Given the description of an element on the screen output the (x, y) to click on. 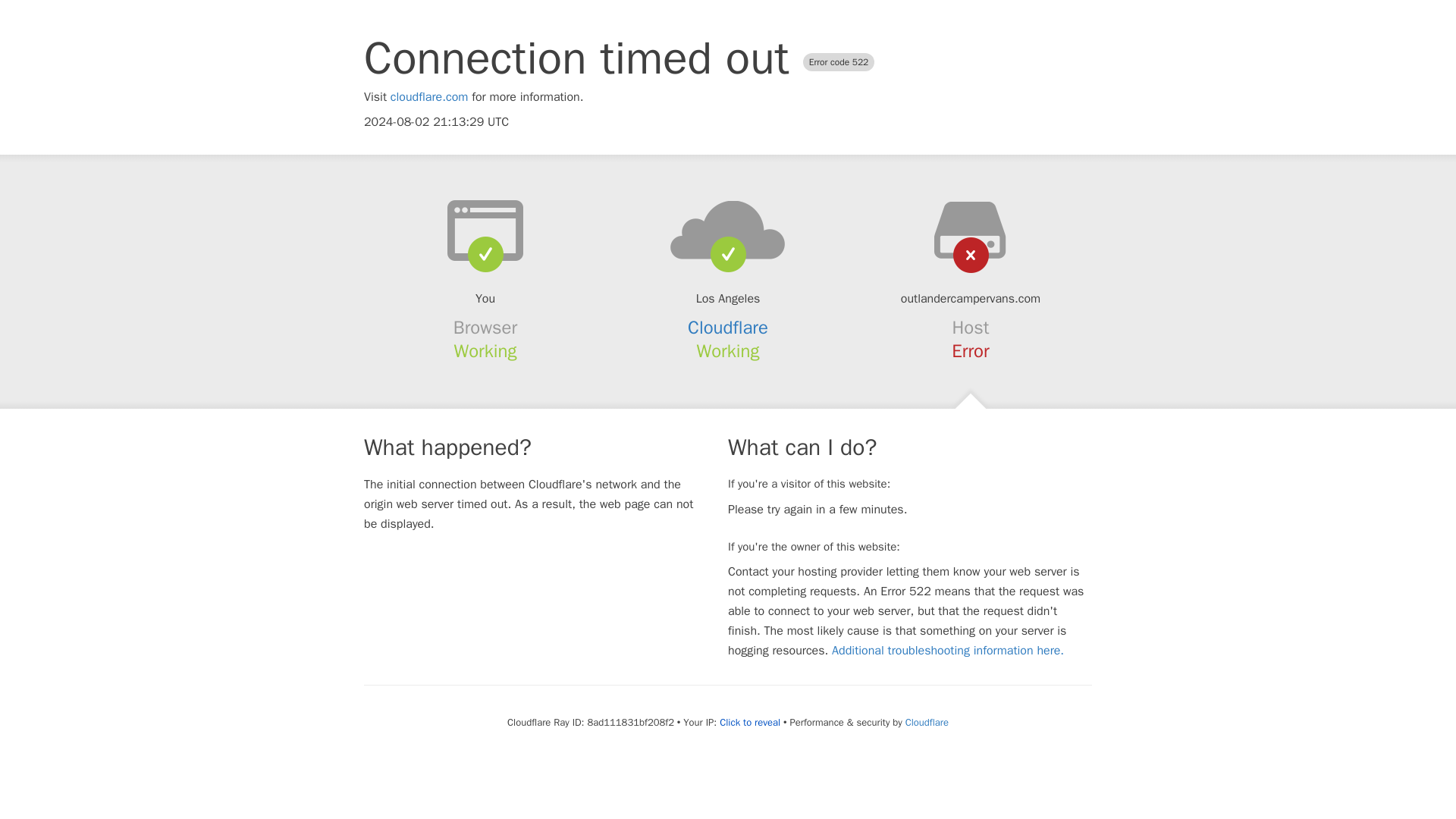
cloudflare.com (429, 96)
Additional troubleshooting information here. (947, 650)
Click to reveal (749, 722)
Cloudflare (927, 721)
Cloudflare (727, 327)
